Given the description of an element on the screen output the (x, y) to click on. 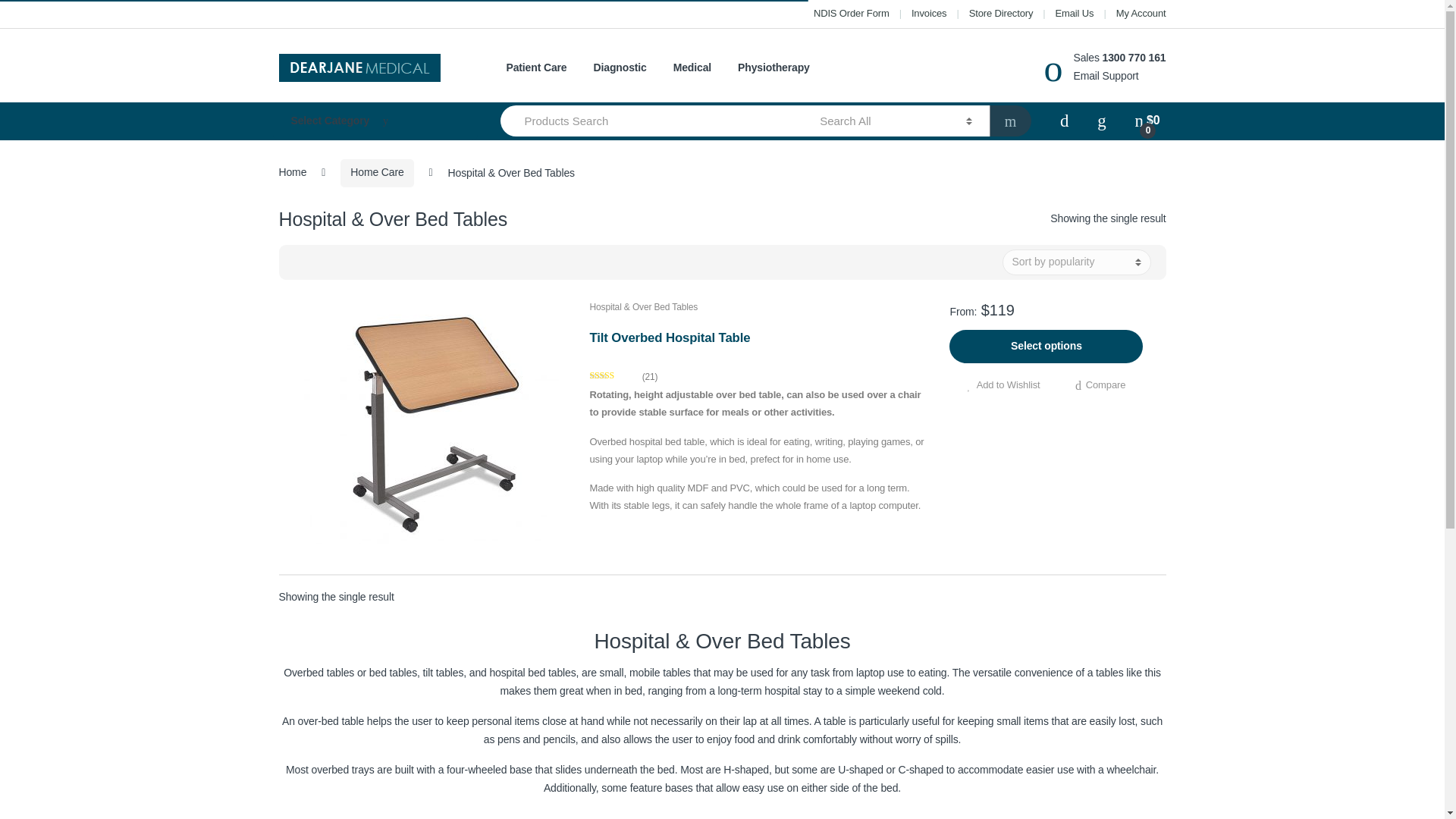
NDIS Order Form (851, 13)
Email Support (1105, 75)
My Account (1141, 13)
Physiotherapy (773, 67)
Diagnostic (620, 67)
Invoices (929, 13)
Medical (691, 67)
Email Us (1074, 13)
Store Directory (1001, 13)
Select Category (375, 121)
